Given the description of an element on the screen output the (x, y) to click on. 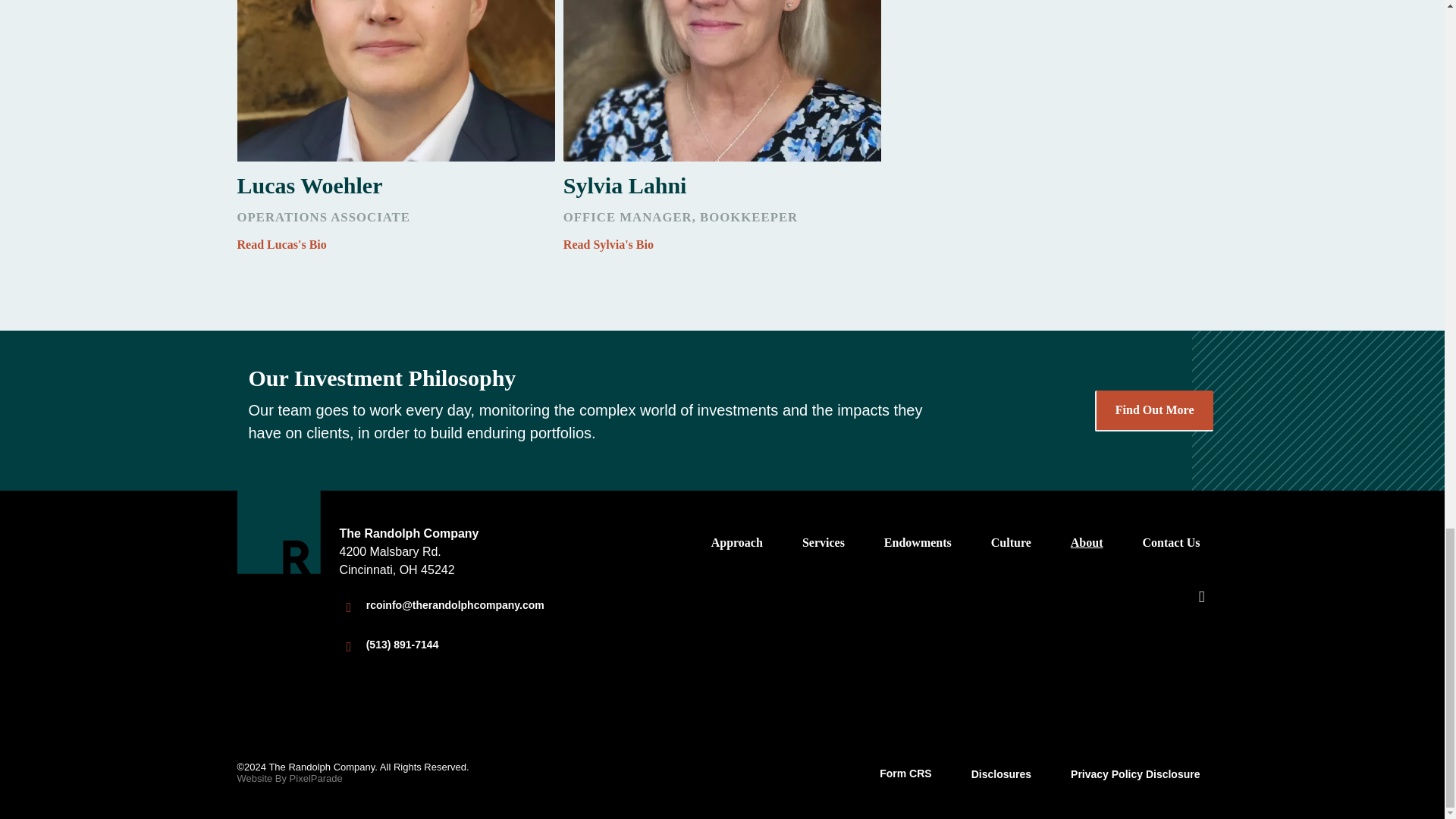
Endowments (917, 542)
About (1086, 542)
Approach (736, 542)
Culture (1011, 542)
Contact Us (1170, 542)
Read Sylvia's Bio (721, 244)
Privacy Policy Disclosure (1134, 774)
Read Lucas's Bio (394, 244)
Services (822, 542)
Website By PixelParade (288, 778)
Find Out More (1153, 409)
Disclosures (1001, 774)
Form CRS (905, 773)
